Given the description of an element on the screen output the (x, y) to click on. 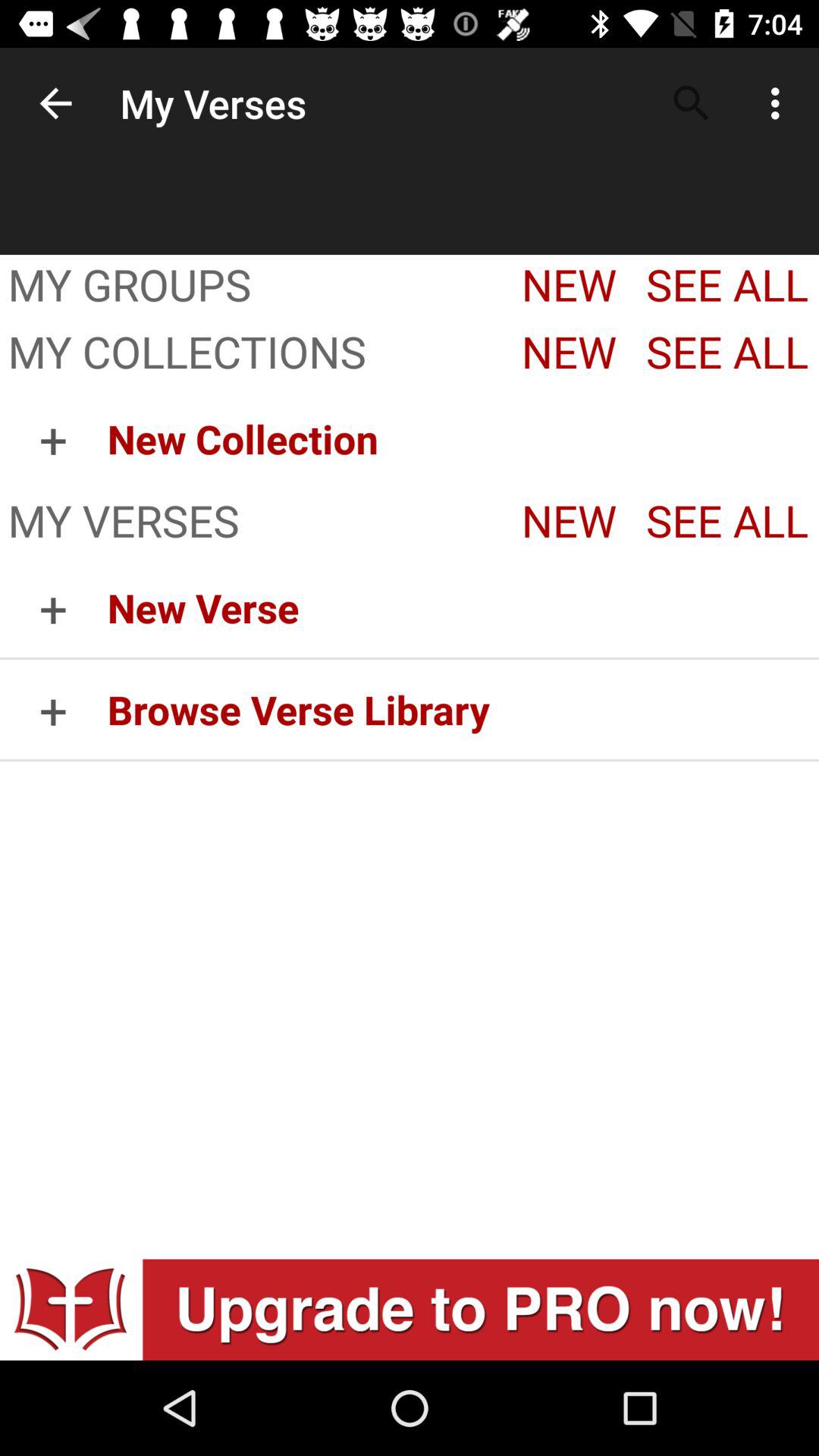
press the item above the my verses app (463, 438)
